Given the description of an element on the screen output the (x, y) to click on. 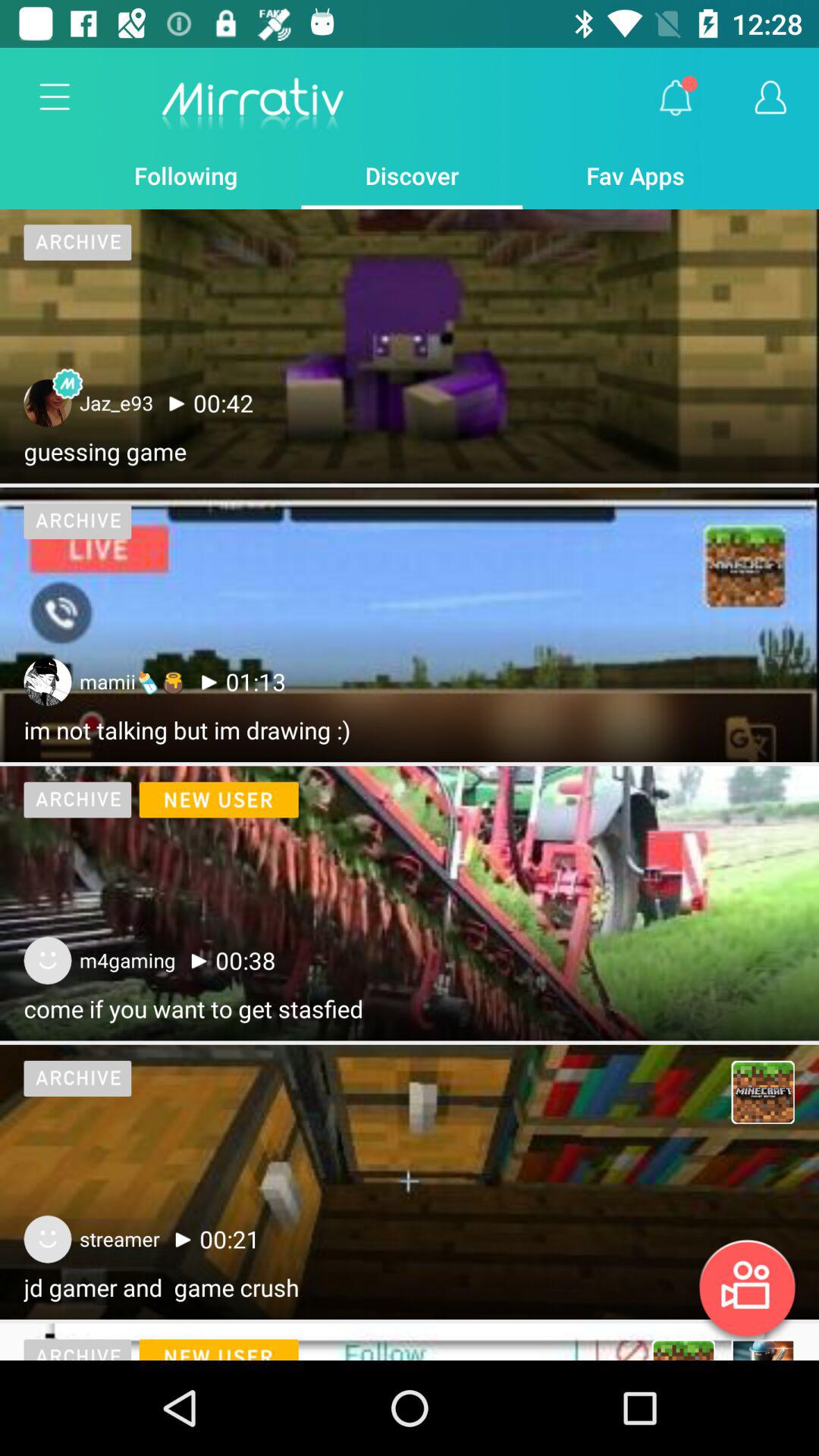
click the item next to the following item (55, 97)
